Given the description of an element on the screen output the (x, y) to click on. 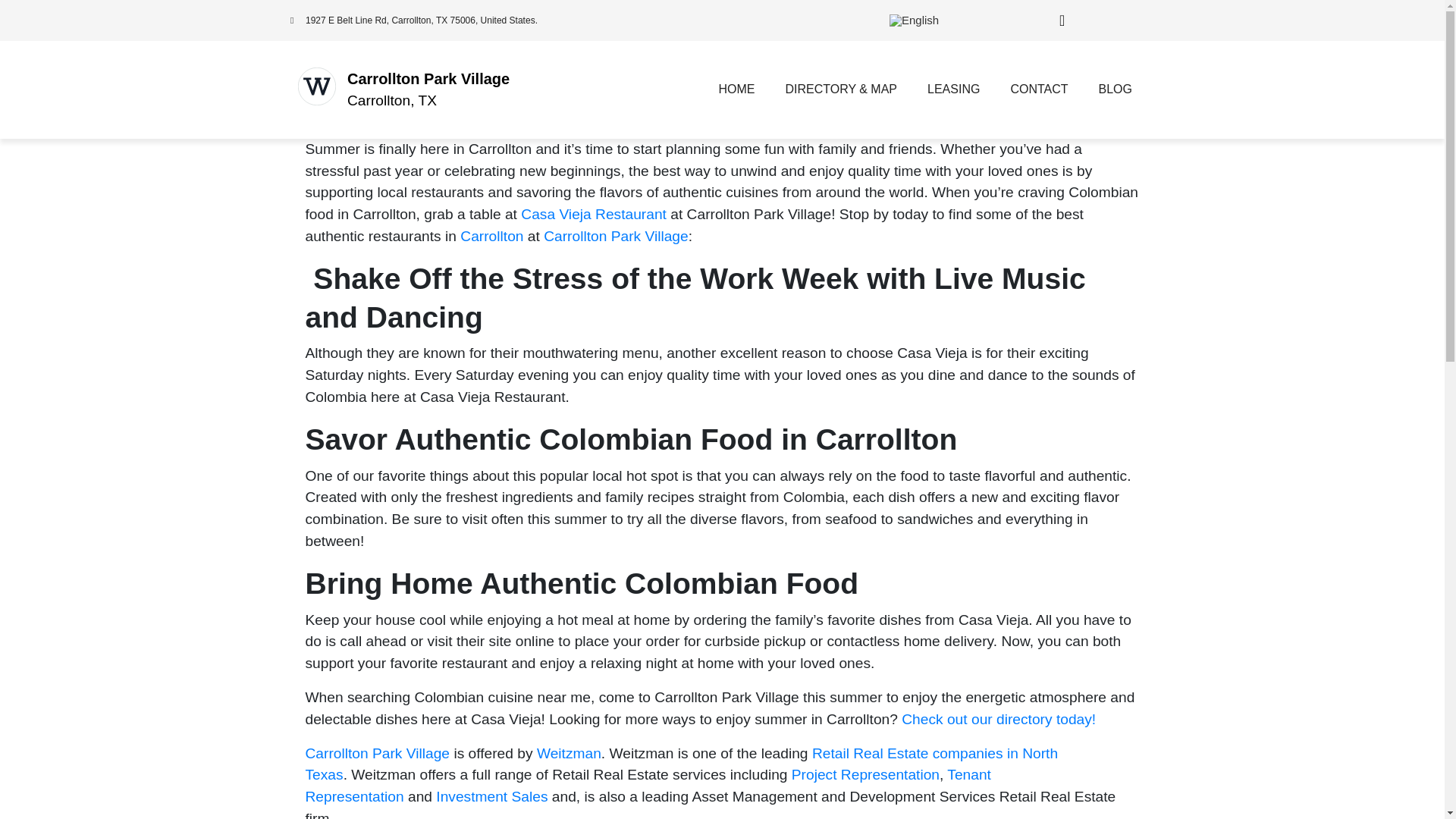
BLOG (1115, 89)
Carrollton Park Village (376, 752)
CONTACT (1038, 89)
Project Representation (865, 774)
Weitzman (569, 752)
HOME (736, 89)
Tenant Representation (647, 785)
Retail Real Estate companies in North Texas (681, 763)
Check out our directory today! (998, 719)
Carrollton Park Village (615, 236)
